Given the description of an element on the screen output the (x, y) to click on. 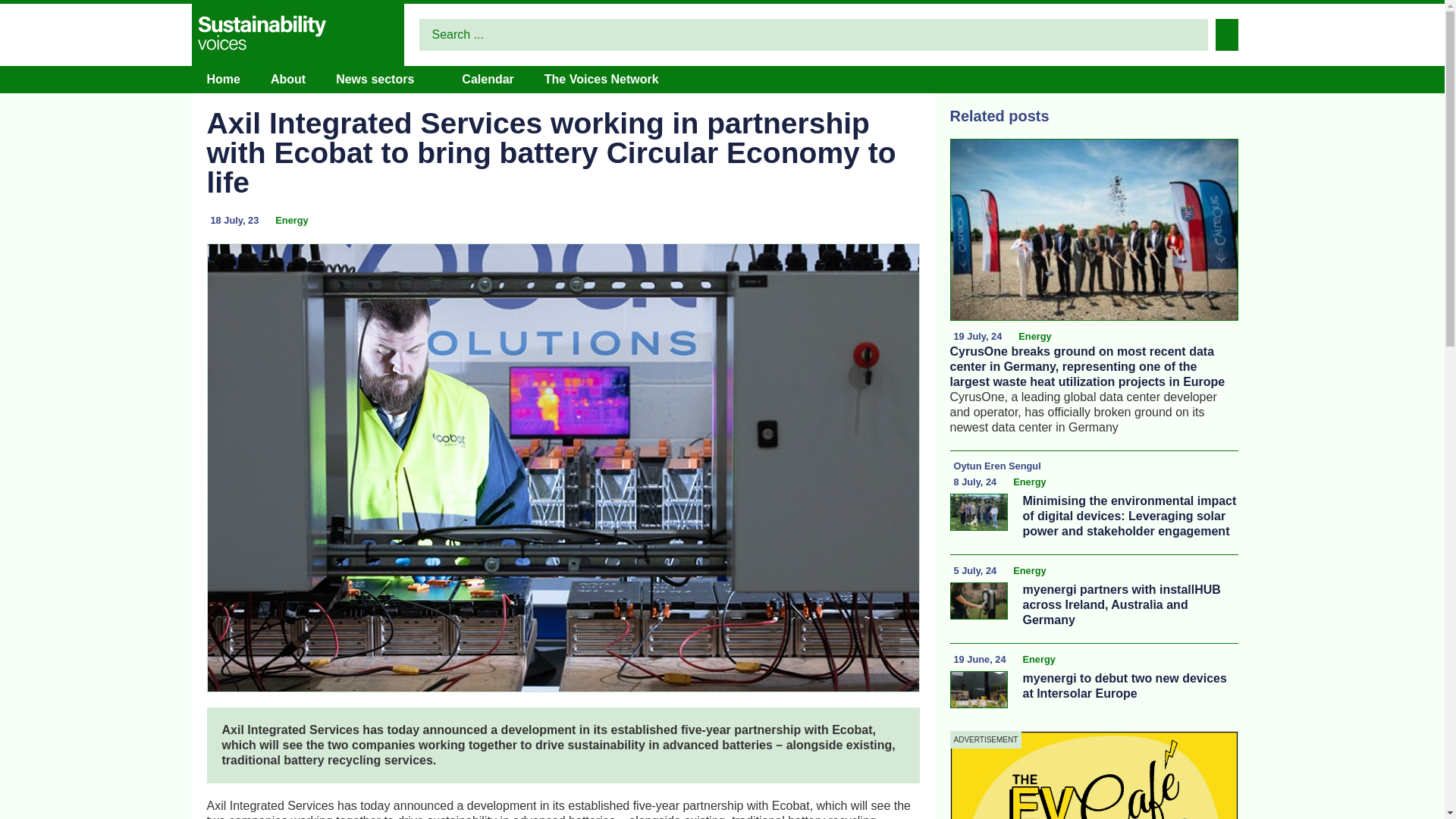
Energy (1034, 336)
Energy (1029, 570)
Energy (1039, 659)
Calendar (487, 79)
Energy (1029, 482)
The Voices Network (601, 79)
News sectors (374, 79)
